Given the description of an element on the screen output the (x, y) to click on. 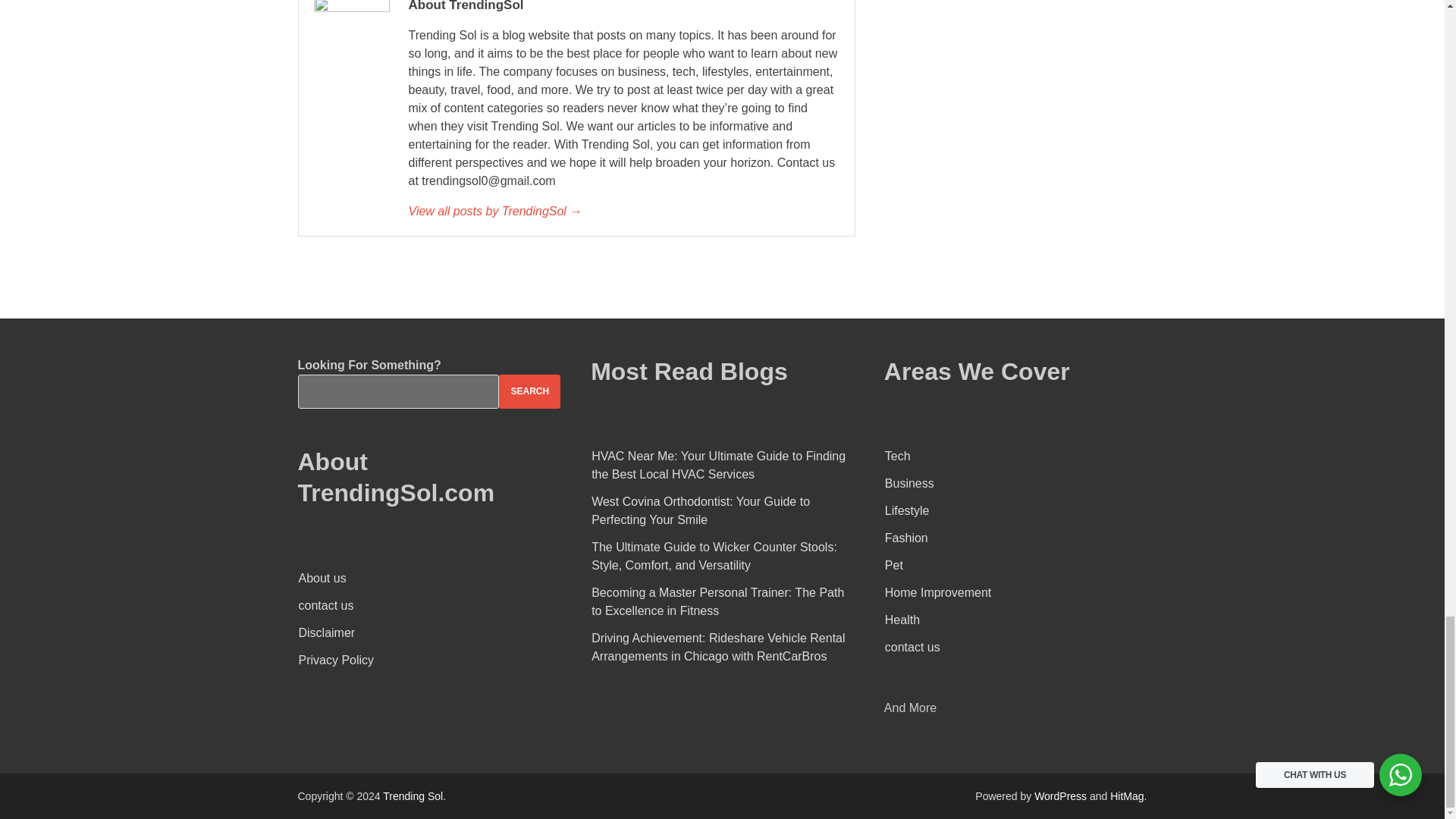
TrendingSol (622, 211)
HitMag WordPress Theme (1125, 796)
Trending Sol (412, 796)
WordPress (1059, 796)
